Given the description of an element on the screen output the (x, y) to click on. 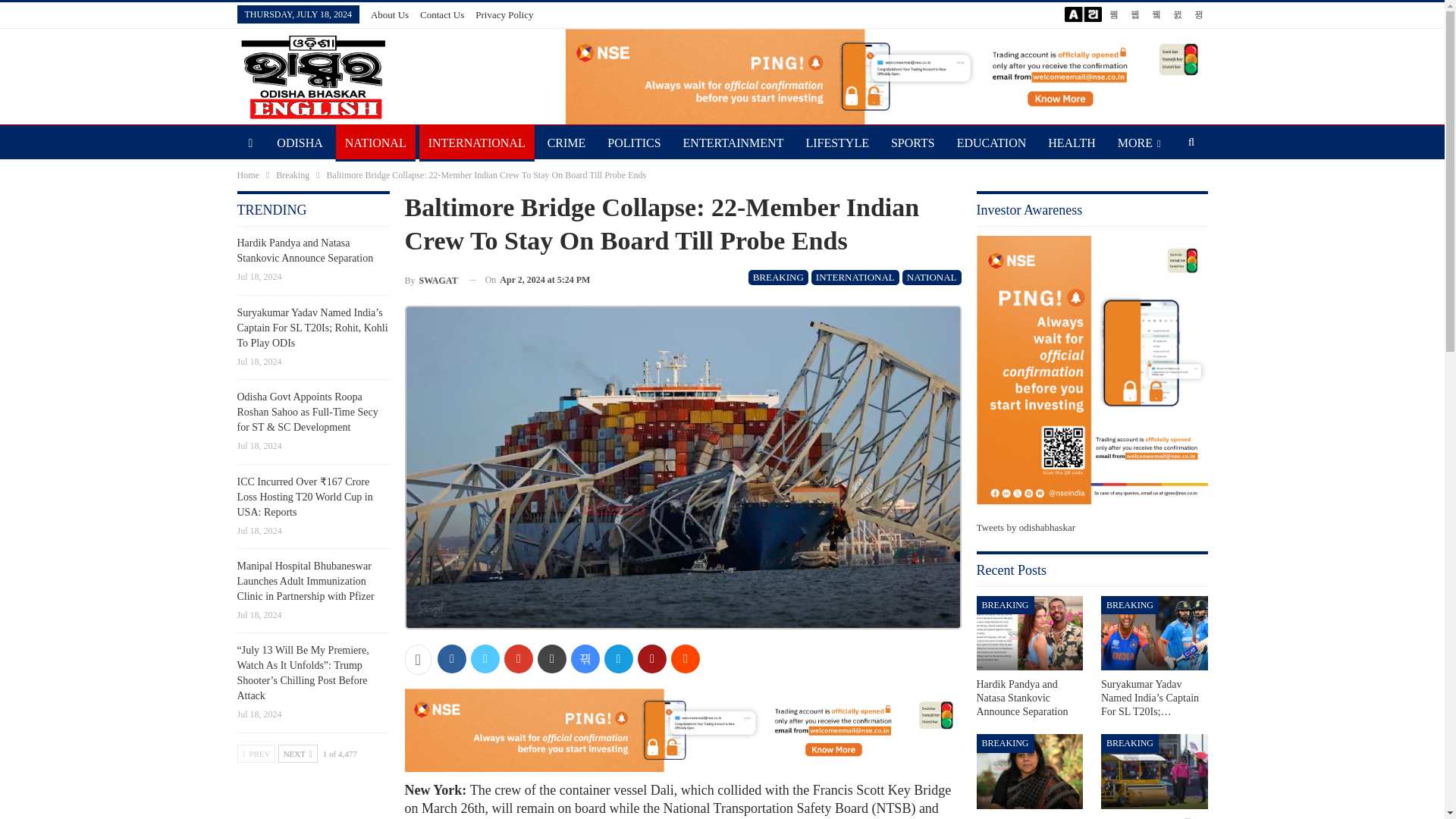
NATIONAL (375, 143)
About Us (390, 14)
CRIME (566, 143)
Hardik Pandya and Natasa Stankovic Announce Separation (1022, 697)
EDUCATION (991, 143)
Browse Author Articles (431, 280)
HEALTH (1072, 143)
INTERNATIONAL (476, 143)
Breaking (292, 175)
By SWAGAT (431, 280)
Hardik Pandya and Natasa Stankovic Announce Separation (1029, 633)
INTERNATIONAL (854, 277)
LIFESTYLE (836, 143)
Privacy Policy (504, 14)
SPORTS (912, 143)
